Given the description of an element on the screen output the (x, y) to click on. 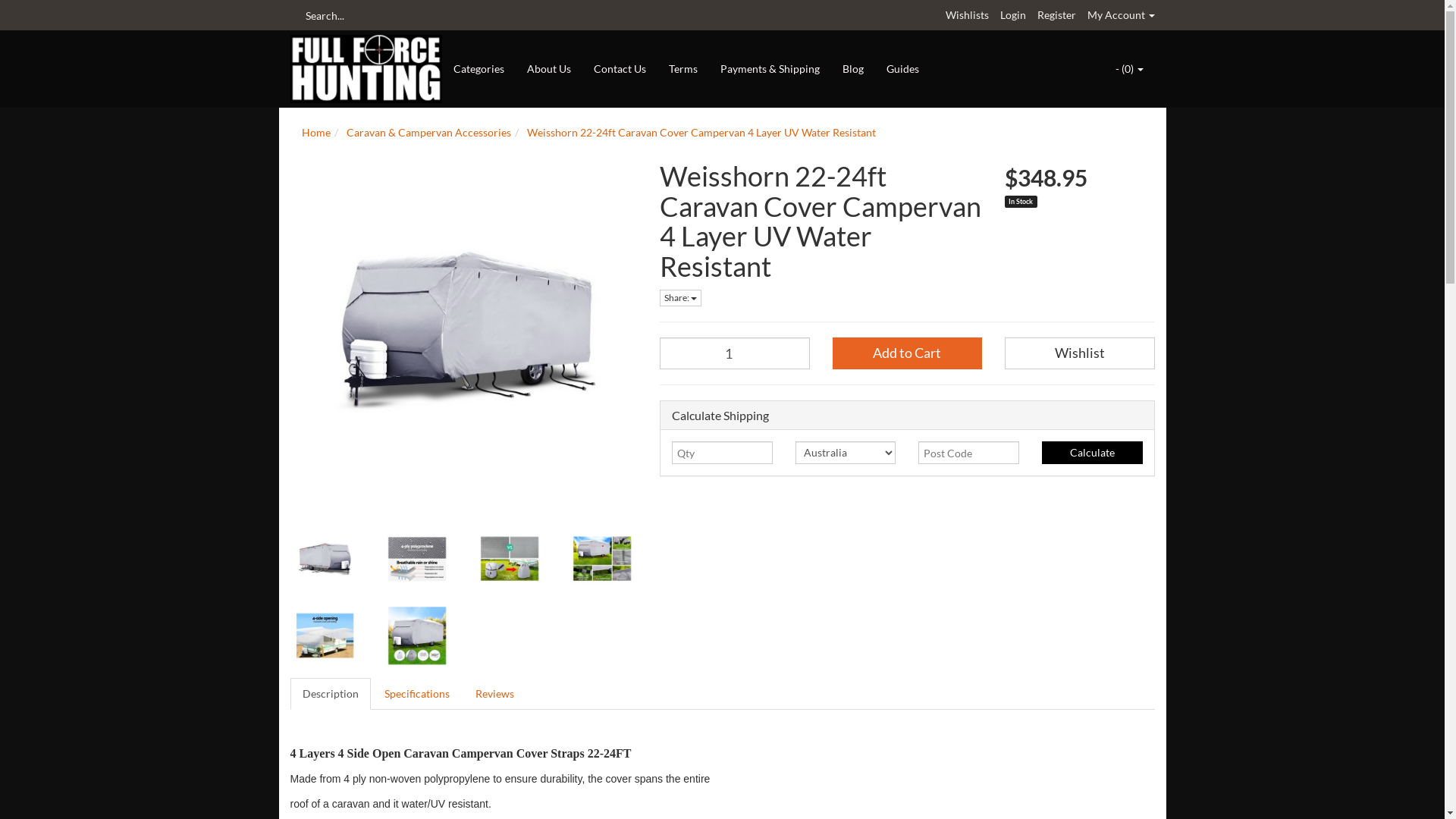
Description Element type: text (329, 693)
Share: Element type: text (680, 297)
Large View Element type: hover (416, 558)
Large View Element type: hover (509, 558)
Payments & Shipping Element type: text (770, 68)
About Us Element type: text (548, 68)
Login Element type: text (1012, 14)
Home Element type: text (315, 131)
Categories Element type: text (478, 68)
Large View Element type: hover (602, 558)
Calculate Element type: text (1091, 452)
Register Element type: text (1056, 14)
Large View Element type: hover (416, 635)
Large View Element type: hover (324, 635)
Terms Element type: text (683, 68)
Add to Cart Element type: text (907, 353)
Guides Element type: text (902, 68)
Contact Us Element type: text (619, 68)
Wishlist Element type: text (1079, 353)
Specifications Element type: text (416, 693)
Reviews Element type: text (493, 693)
Blog Element type: text (853, 68)
Large View Element type: hover (324, 558)
- (0) Element type: text (1129, 68)
Caravan & Campervan Accessories Element type: text (427, 131)
My Account Element type: text (1120, 14)
Search Element type: text (294, 14)
Wishlists Element type: text (966, 14)
